Given the description of an element on the screen output the (x, y) to click on. 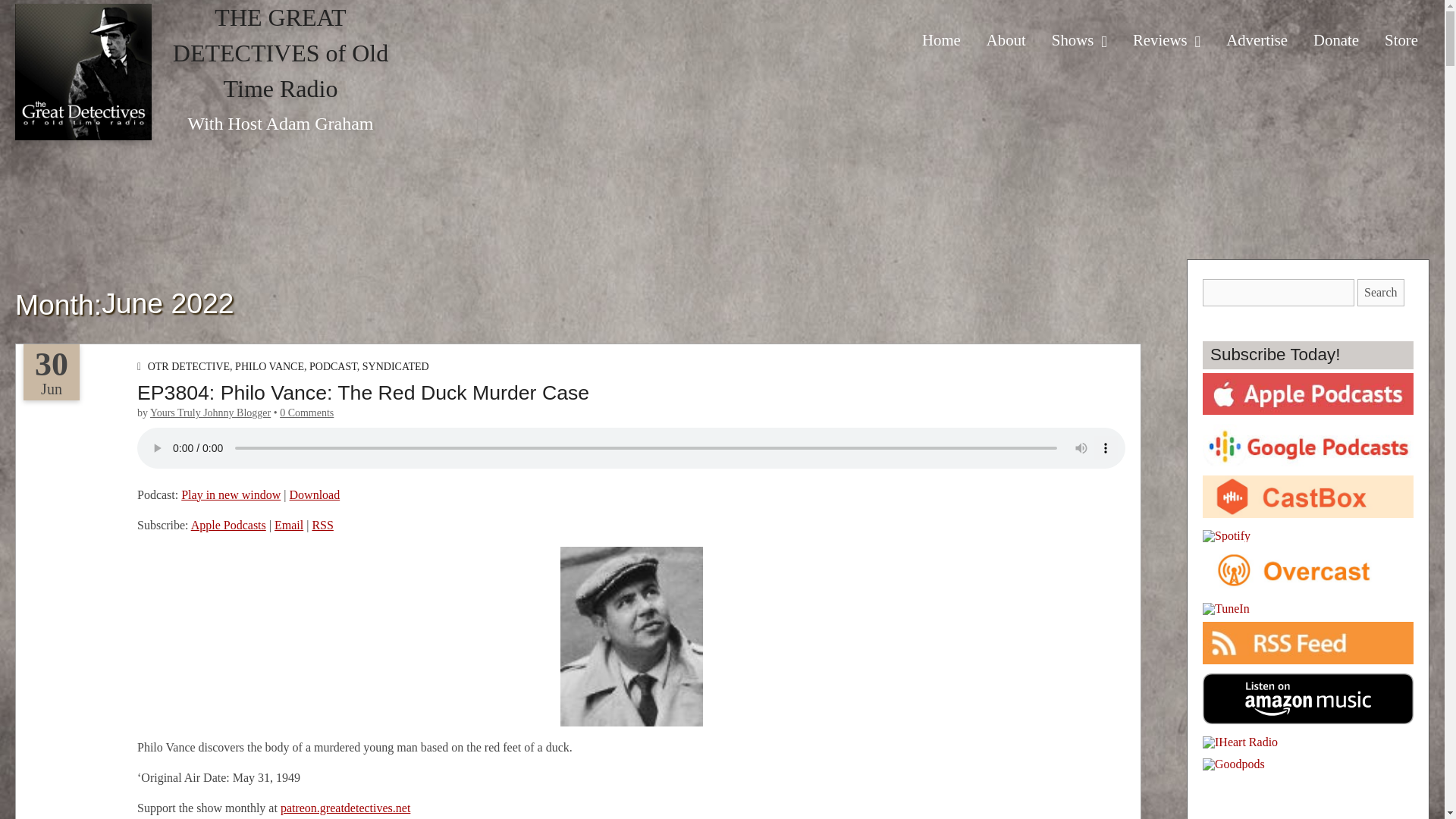
The Great Detectives of Old Time Radio (82, 74)
Skip to content (962, 27)
Download (314, 494)
Home (941, 39)
THE GREAT DETECTIVES of Old Time Radio (280, 53)
Search (1380, 292)
EP3804: Philo Vance: The Red Duck Murder Case (362, 392)
Subscribe by Email (288, 524)
Play in new window (230, 494)
Shows (1079, 40)
